Given the description of an element on the screen output the (x, y) to click on. 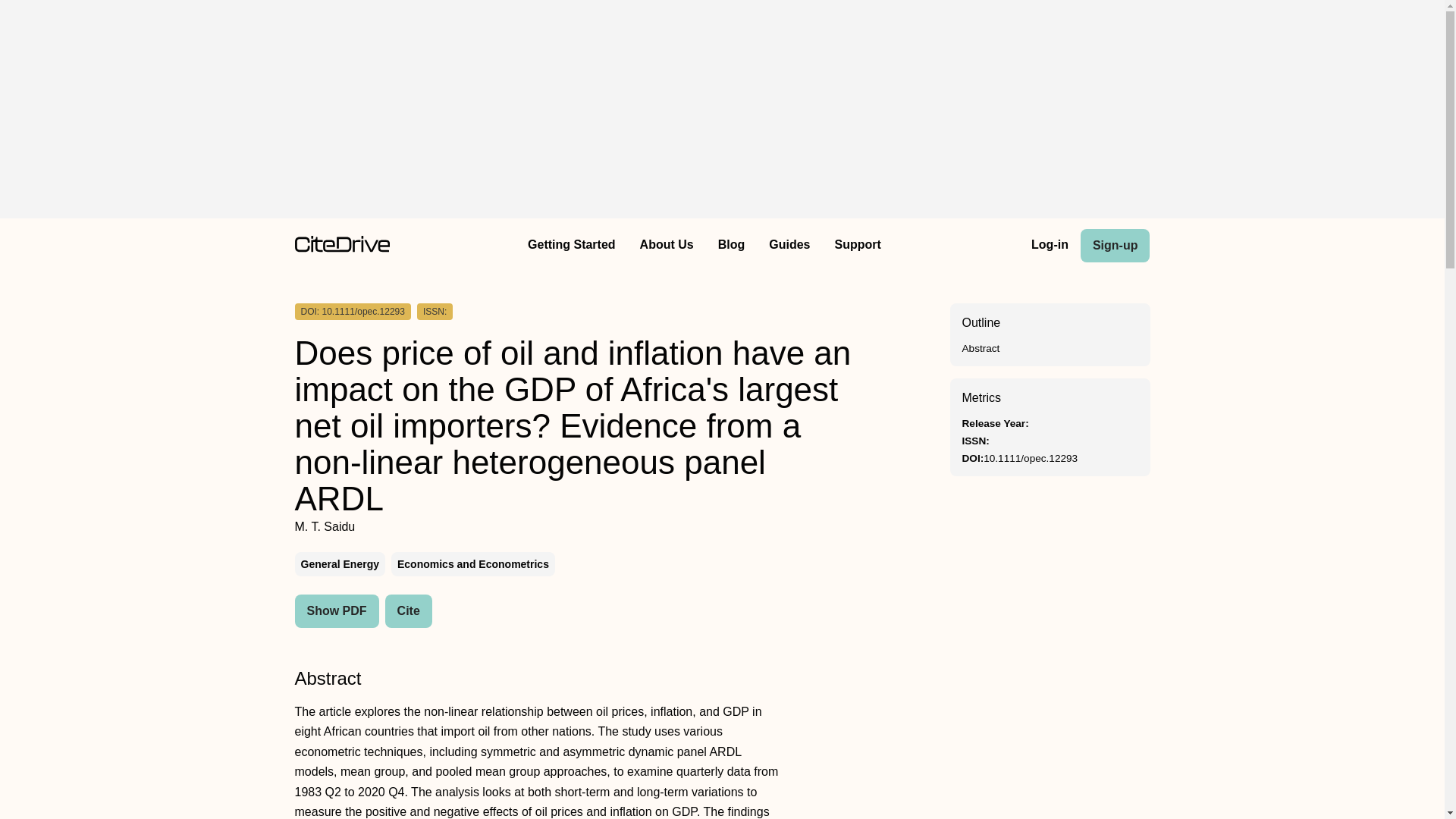
Log-in (1049, 245)
About Us (666, 245)
Support (857, 245)
Blog (731, 245)
Abstract (979, 348)
Sign-up (1115, 245)
Guides (789, 245)
Show PDF (336, 611)
Cite (408, 611)
Getting Started (571, 245)
